Given the description of an element on the screen output the (x, y) to click on. 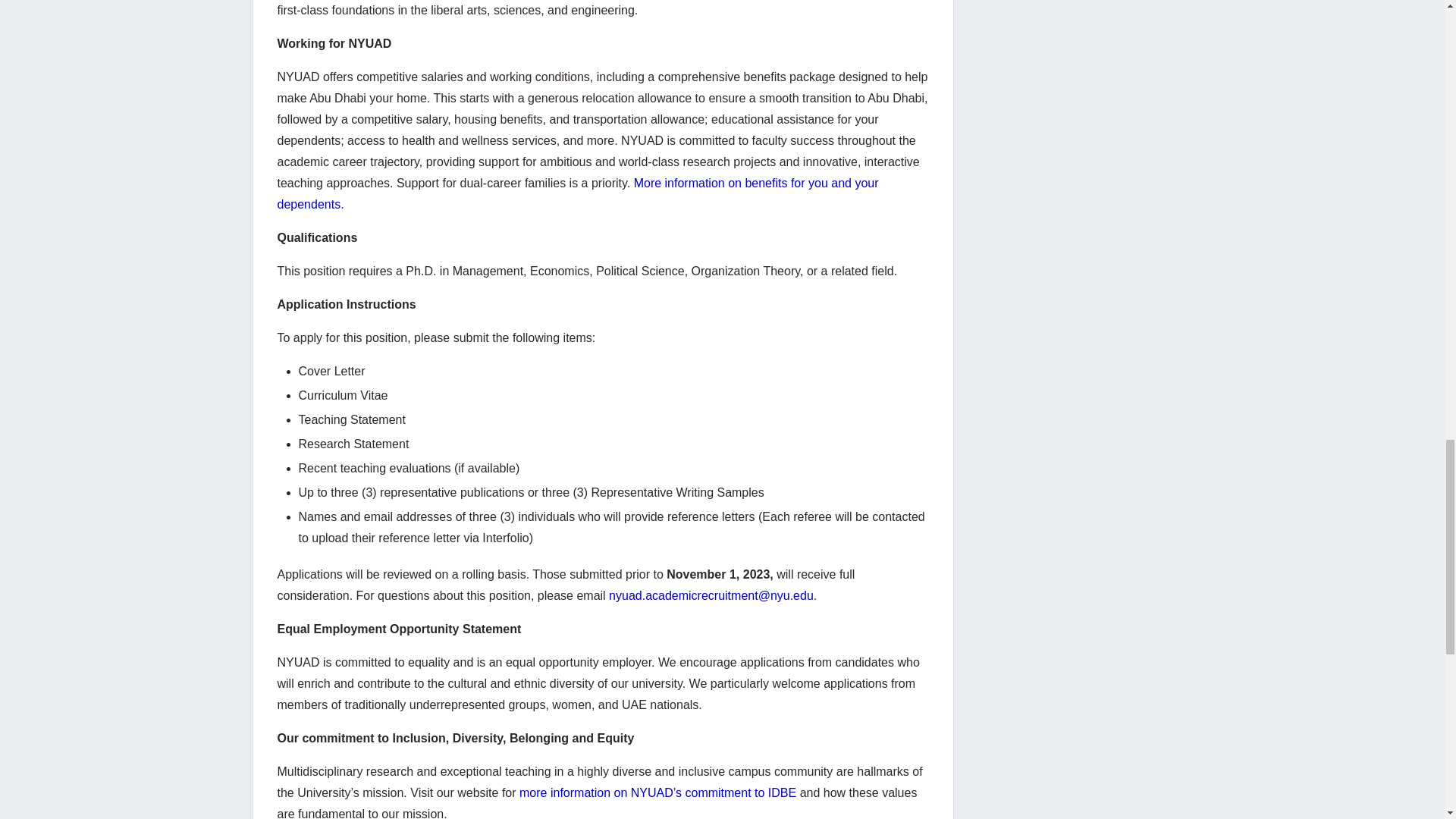
3rd party ad content (1080, 15)
3rd party ad content (1080, 81)
